Given the description of an element on the screen output the (x, y) to click on. 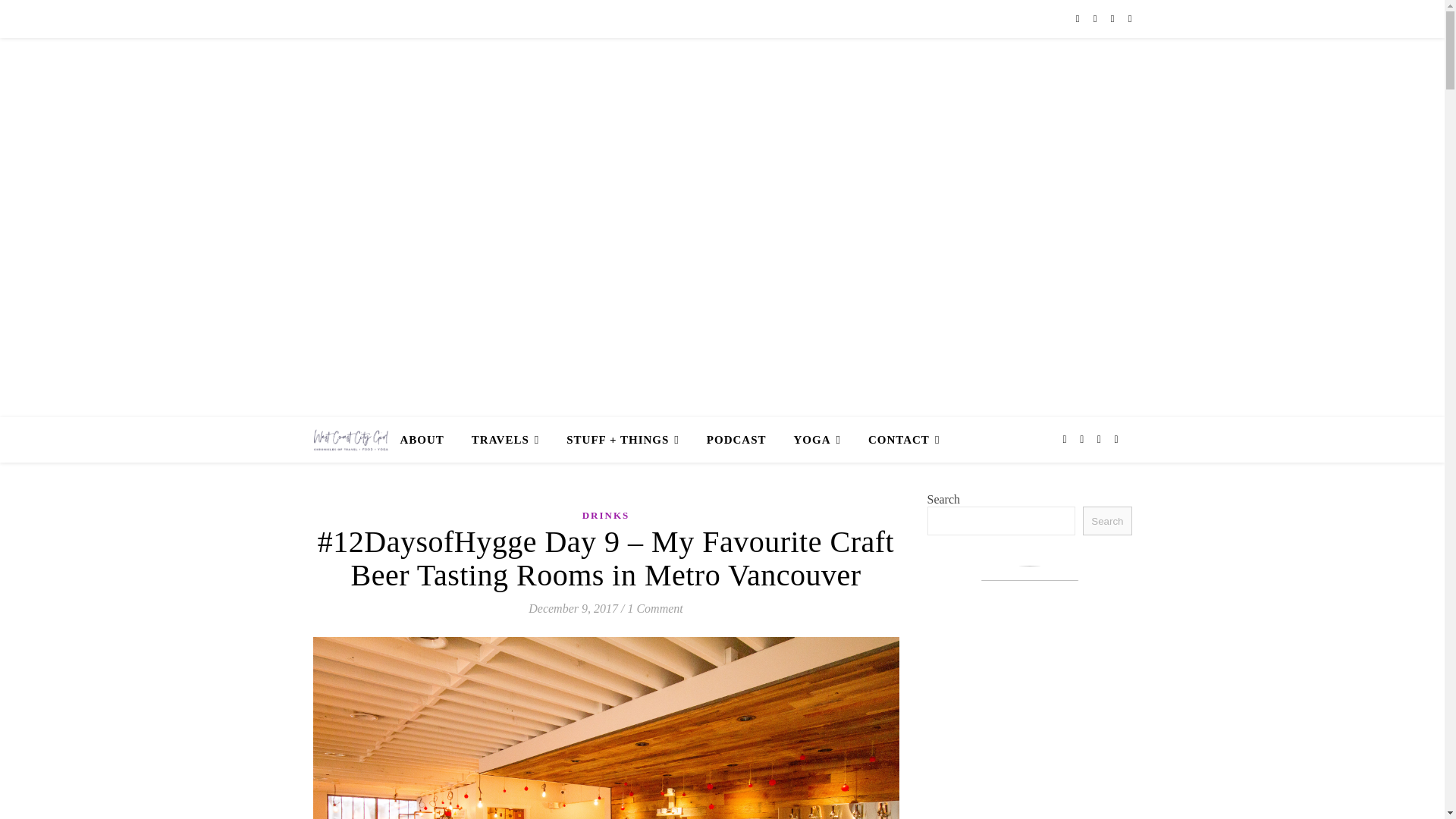
West Coast City Girl (350, 440)
TRAVELS (505, 439)
ABOUT (428, 439)
West Coast City Girl (721, 202)
YOGA (815, 439)
CONTACT (897, 439)
PODCAST (736, 439)
